Given the description of an element on the screen output the (x, y) to click on. 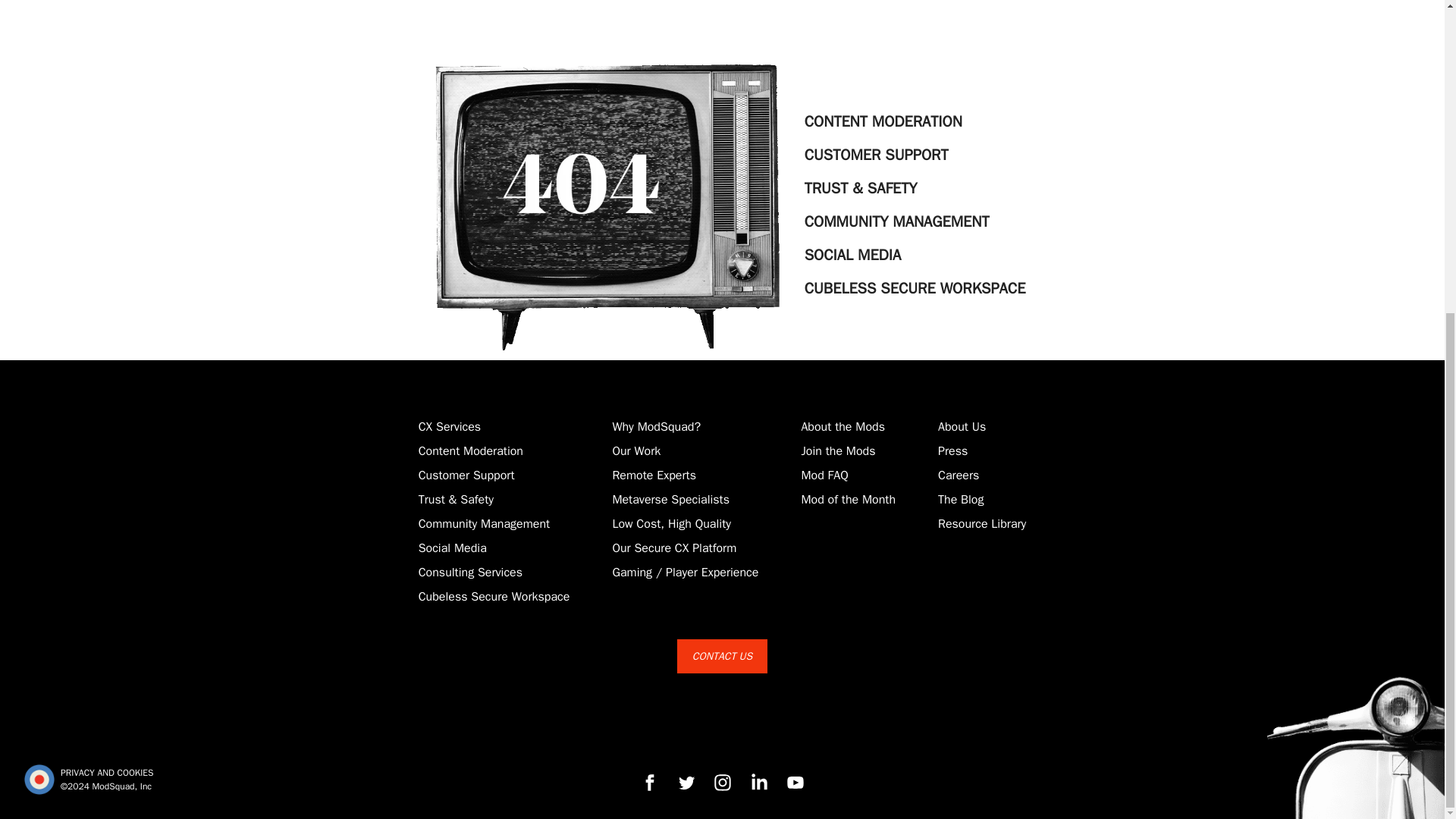
Remote Experts (653, 475)
Metaverse Specialists (670, 499)
Consulting Services (470, 572)
Social Media (452, 548)
Mod of the Month (847, 499)
Community Management (484, 523)
Join the Mods (837, 450)
CONTENT MODERATION (914, 121)
COMMUNITY MANAGEMENT (914, 222)
Content Moderation (470, 450)
The Blog (960, 499)
Why ModSquad? (655, 426)
CUBELESS SECURE WORKSPACE (914, 288)
About the Mods (842, 426)
Our Work (636, 450)
